Given the description of an element on the screen output the (x, y) to click on. 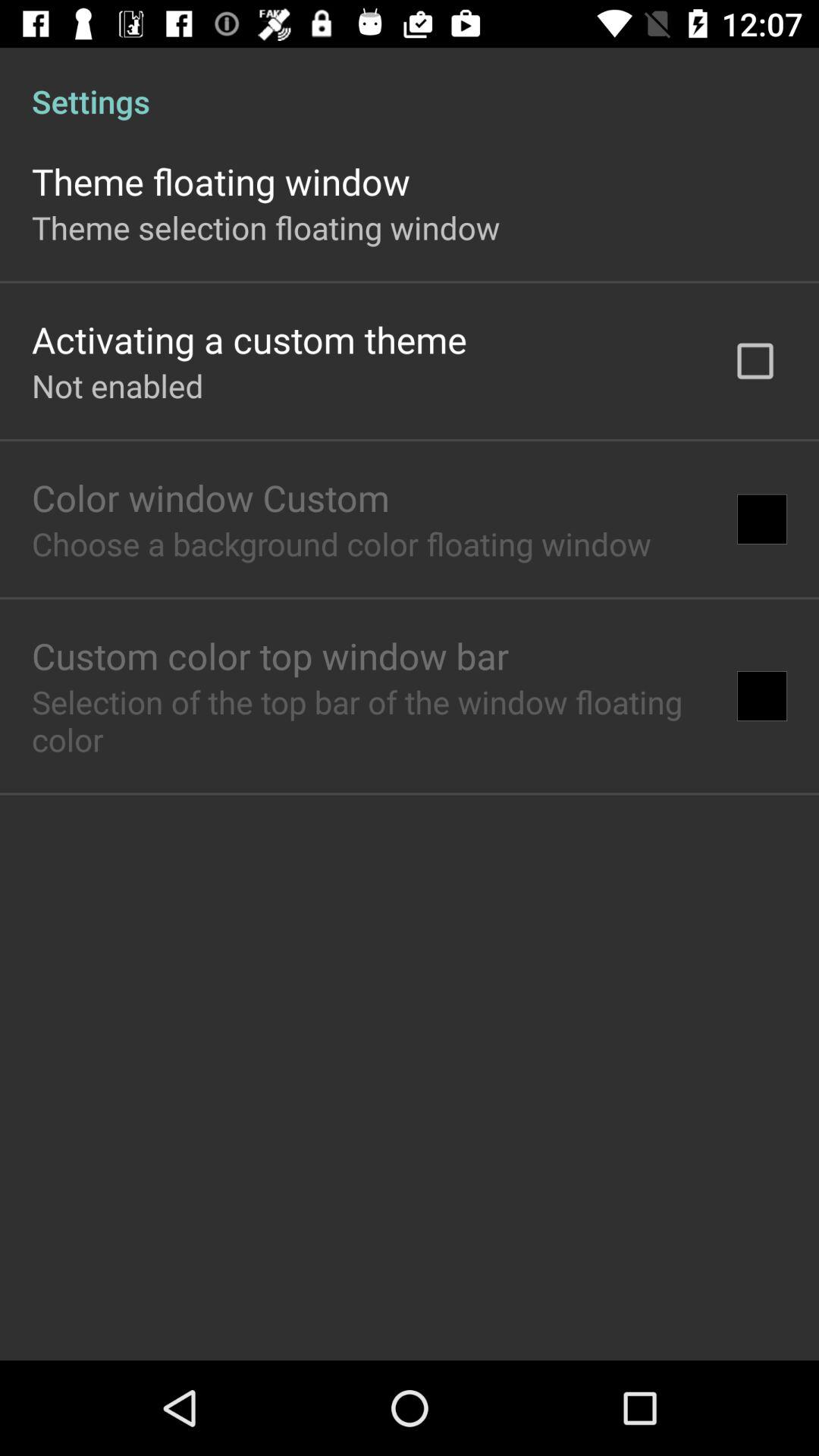
select the item to the right of activating a custom (755, 361)
